Given the description of an element on the screen output the (x, y) to click on. 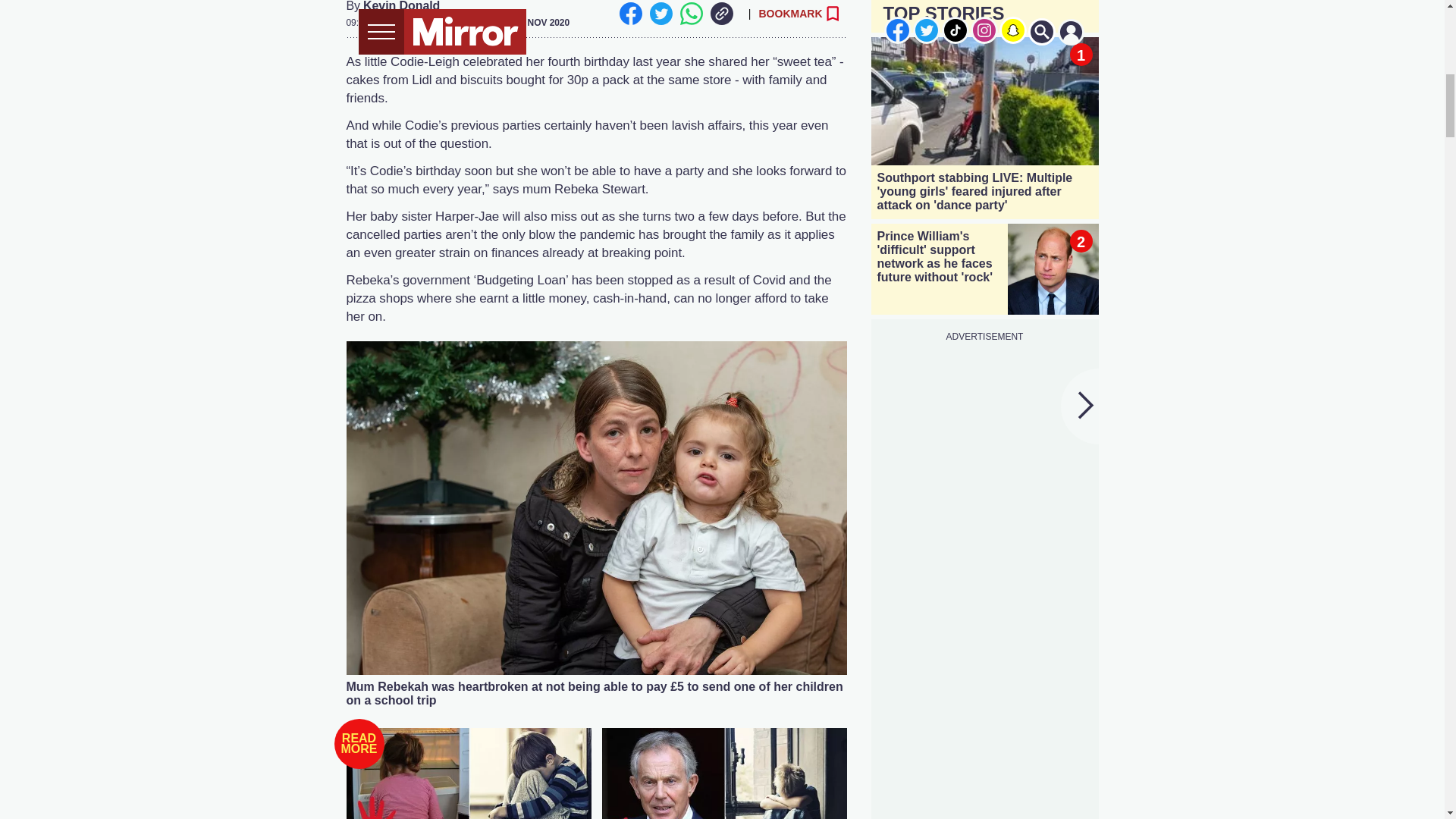
Facebook (630, 13)
Whatsapp (690, 13)
Twitter (660, 13)
